Given the description of an element on the screen output the (x, y) to click on. 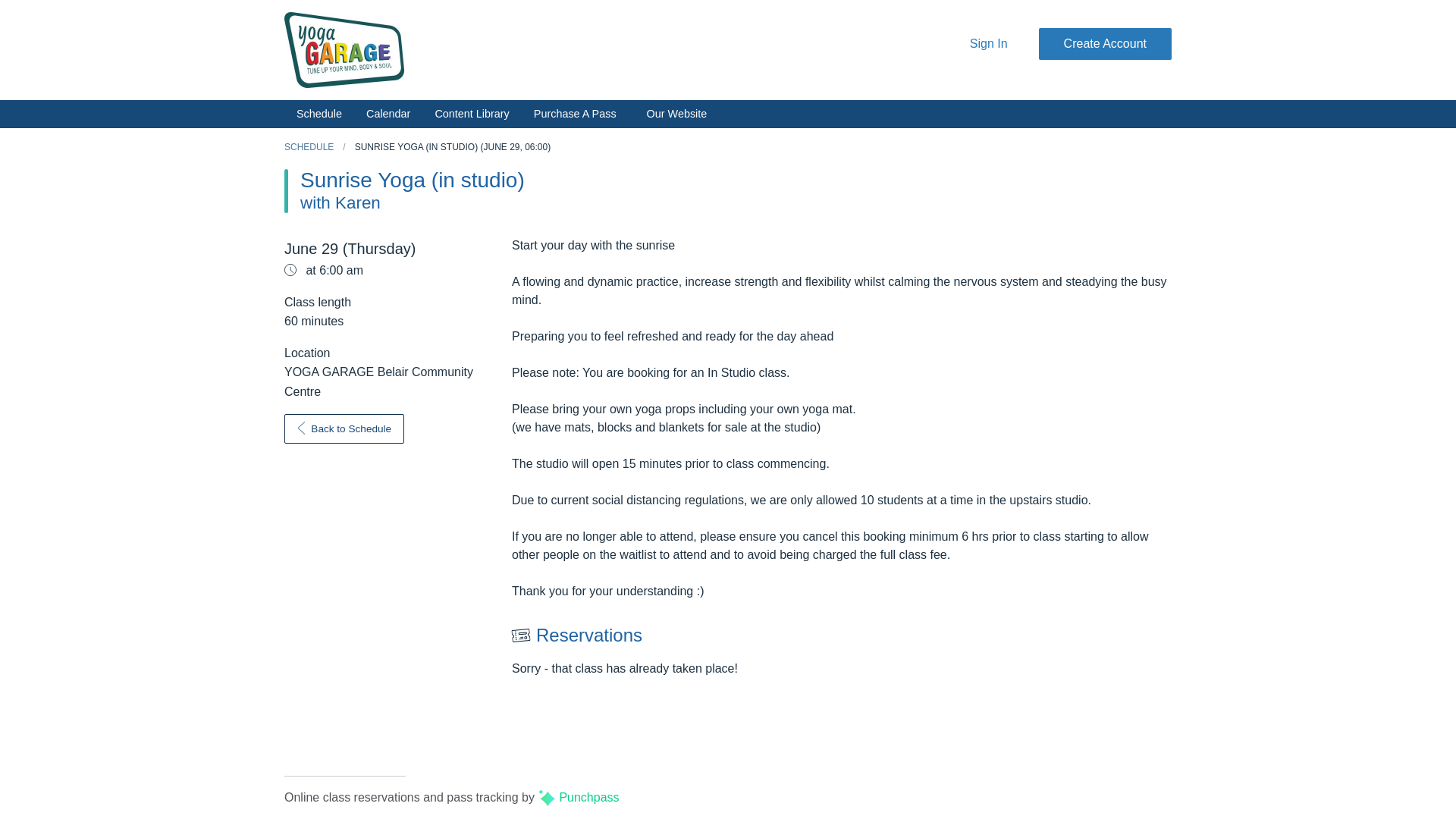
Schedule (318, 113)
Sign In (988, 43)
Back to Schedule (343, 429)
Create Account (1105, 43)
Calendar (387, 113)
Purchase A Pass (574, 113)
Our Website (676, 114)
Content Library (471, 113)
Punchpass (577, 797)
SCHEDULE (308, 146)
